Given the description of an element on the screen output the (x, y) to click on. 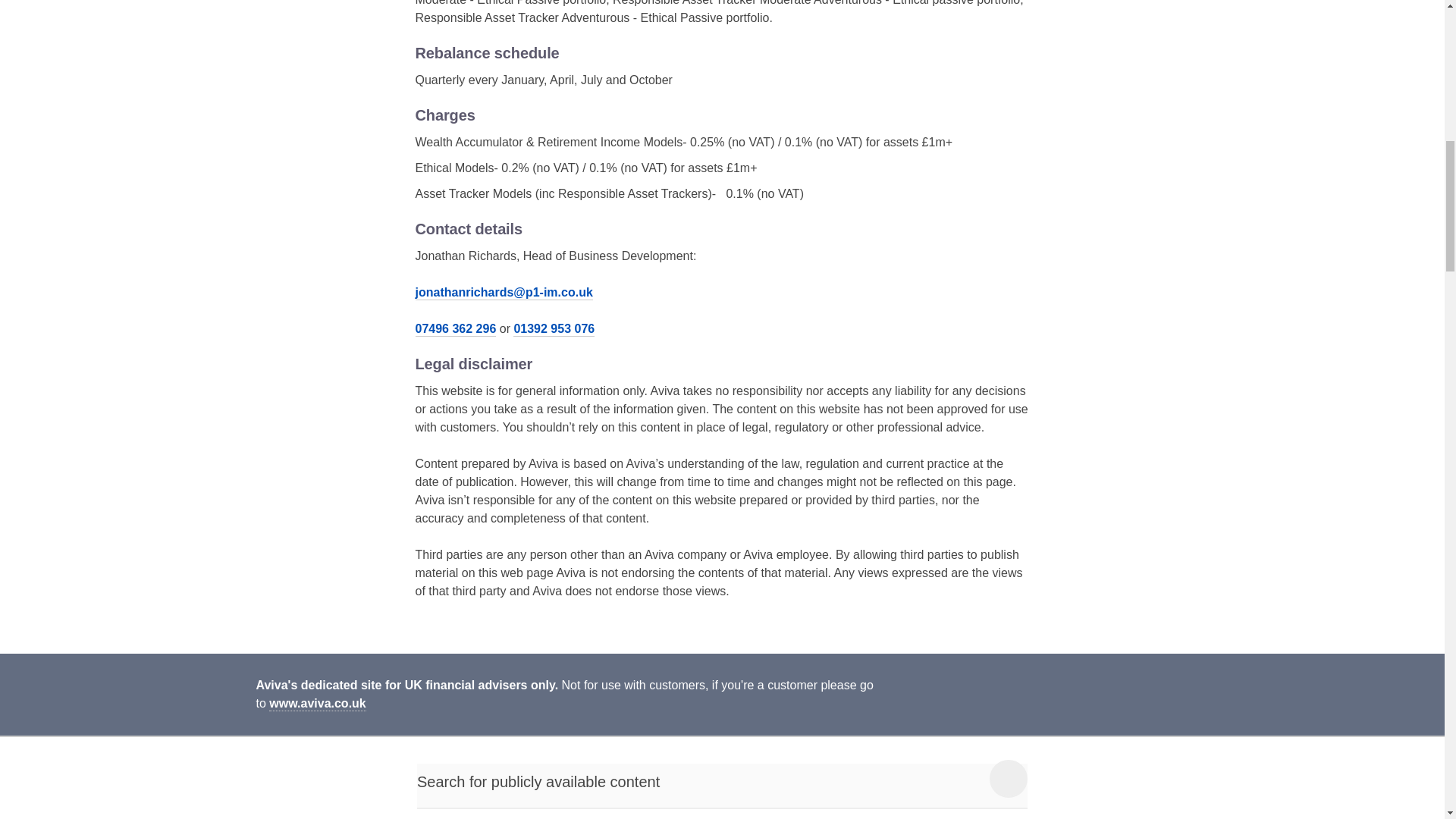
www.aviva.co.uk (317, 703)
Search (1008, 778)
07496 362 296 (455, 329)
01392 953 076 (553, 329)
